Given the description of an element on the screen output the (x, y) to click on. 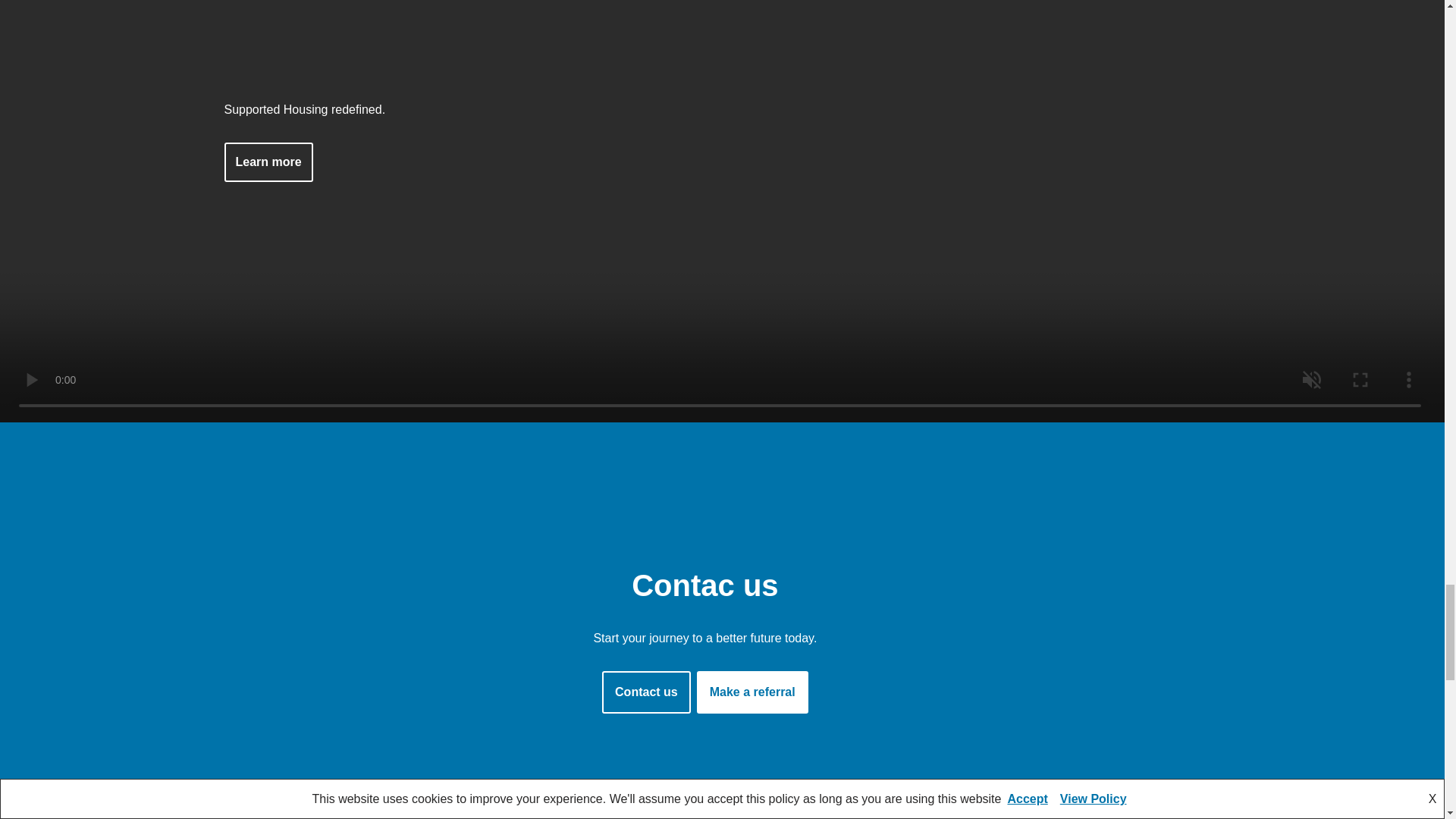
Learn more (268, 161)
Contact us (646, 691)
Make a referral (752, 691)
